Given the description of an element on the screen output the (x, y) to click on. 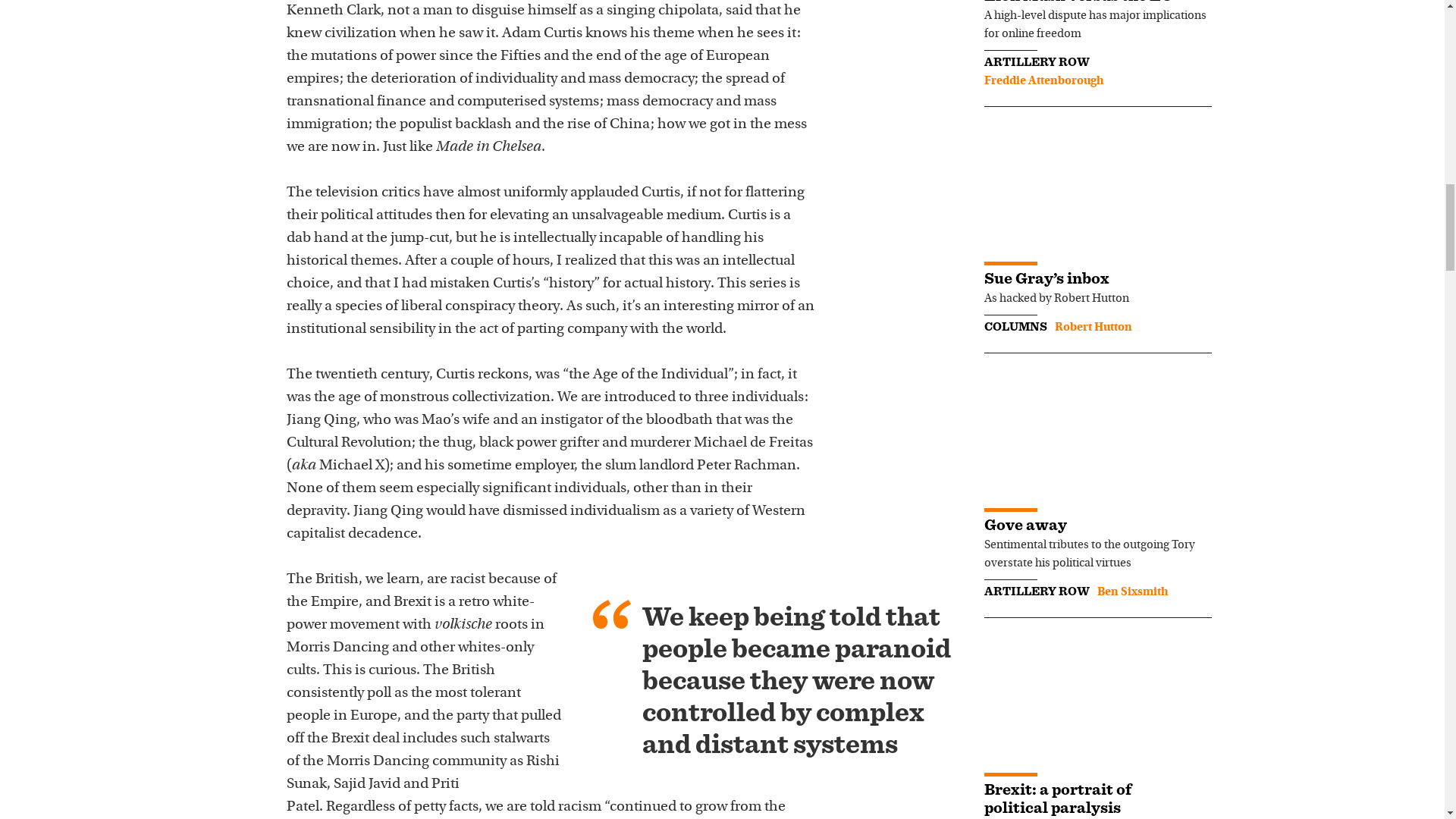
Posts by Ben Sixsmith (1131, 592)
Posts by Robert Hutton (1092, 327)
Posts by Freddie Attenborough (1043, 80)
